Given the description of an element on the screen output the (x, y) to click on. 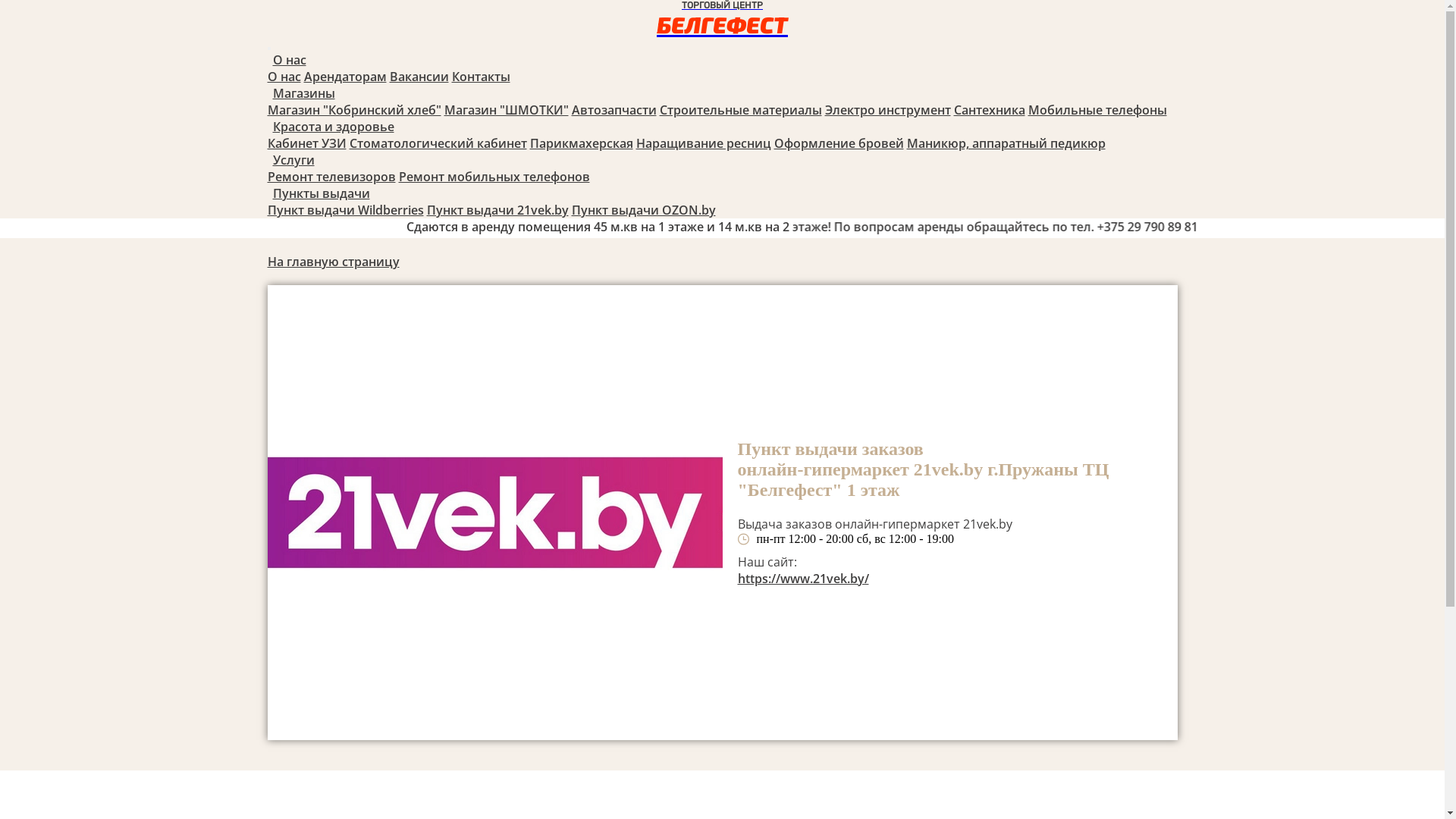
https://www.21vek.by/ Element type: text (802, 578)
